Given the description of an element on the screen output the (x, y) to click on. 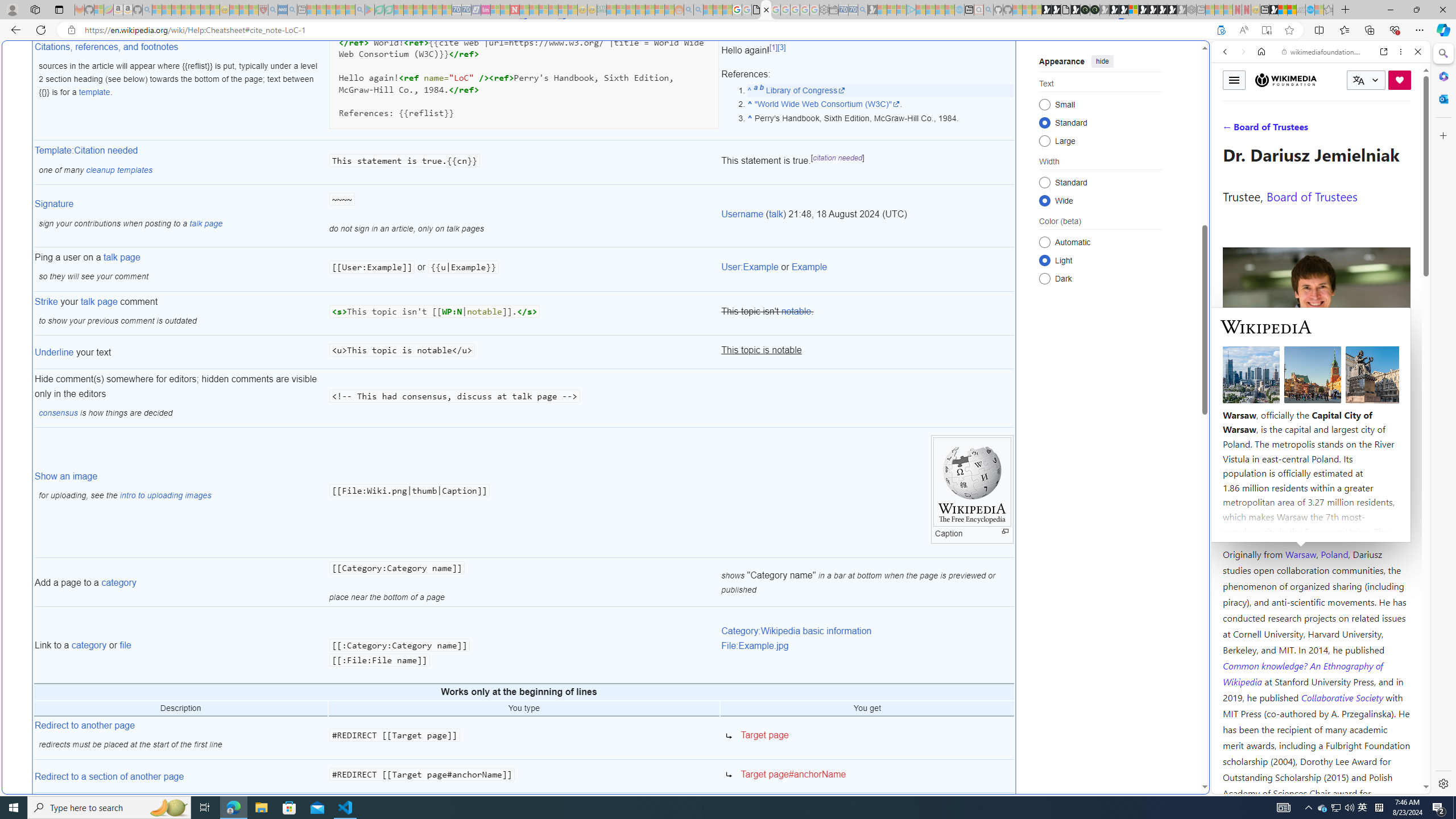
cleanup templates (118, 169)
"World Wide Web Consortium (W3C)" (826, 103)
Light (1044, 259)
template (94, 92)
Small (1044, 104)
Dark (1044, 278)
